Given the description of an element on the screen output the (x, y) to click on. 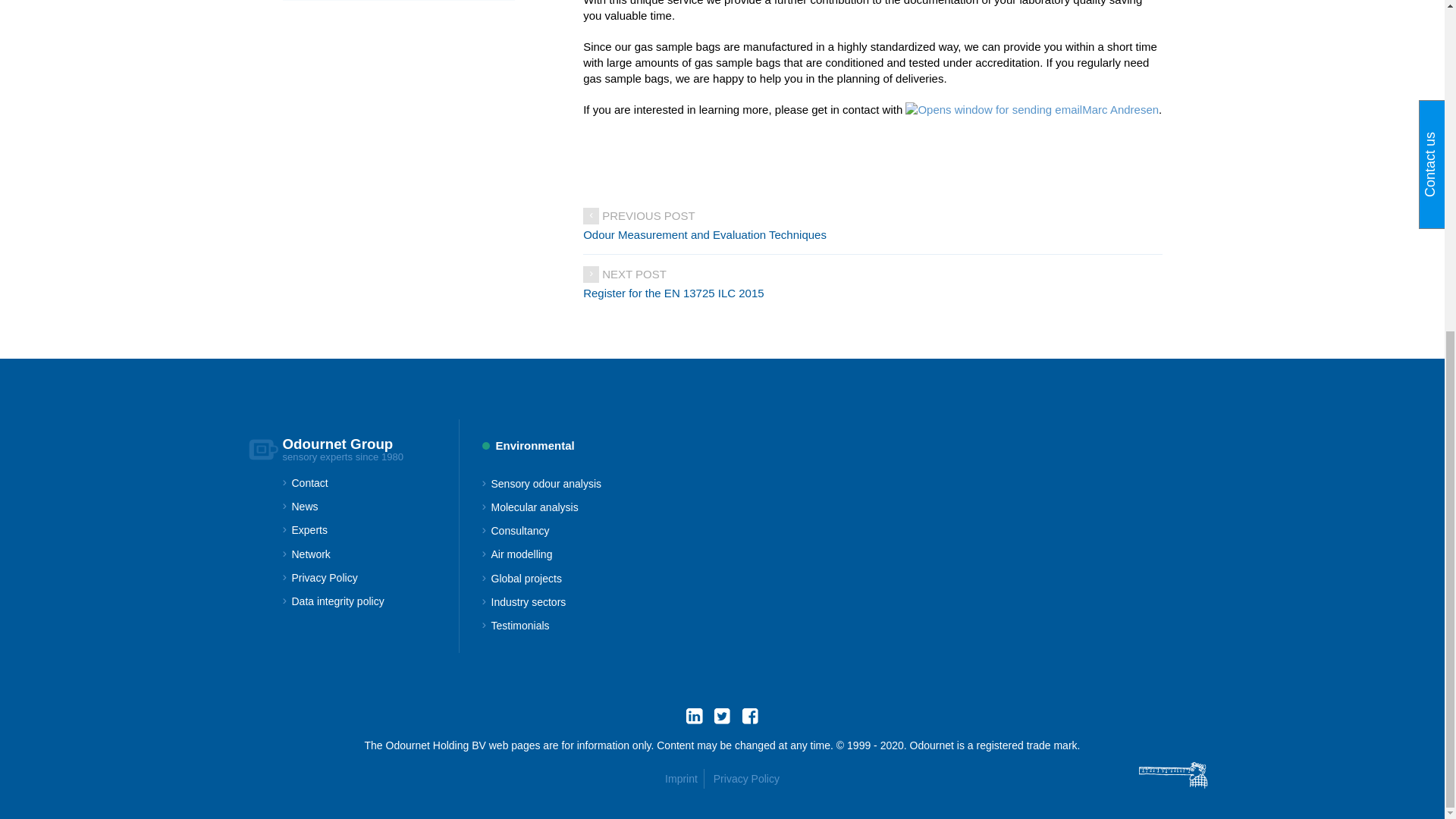
Opens window for sending email (1031, 109)
Register for the EN 13725 ILC 2015 (872, 293)
Odour Measurement and Evaluation Techniques (872, 235)
